Given the description of an element on the screen output the (x, y) to click on. 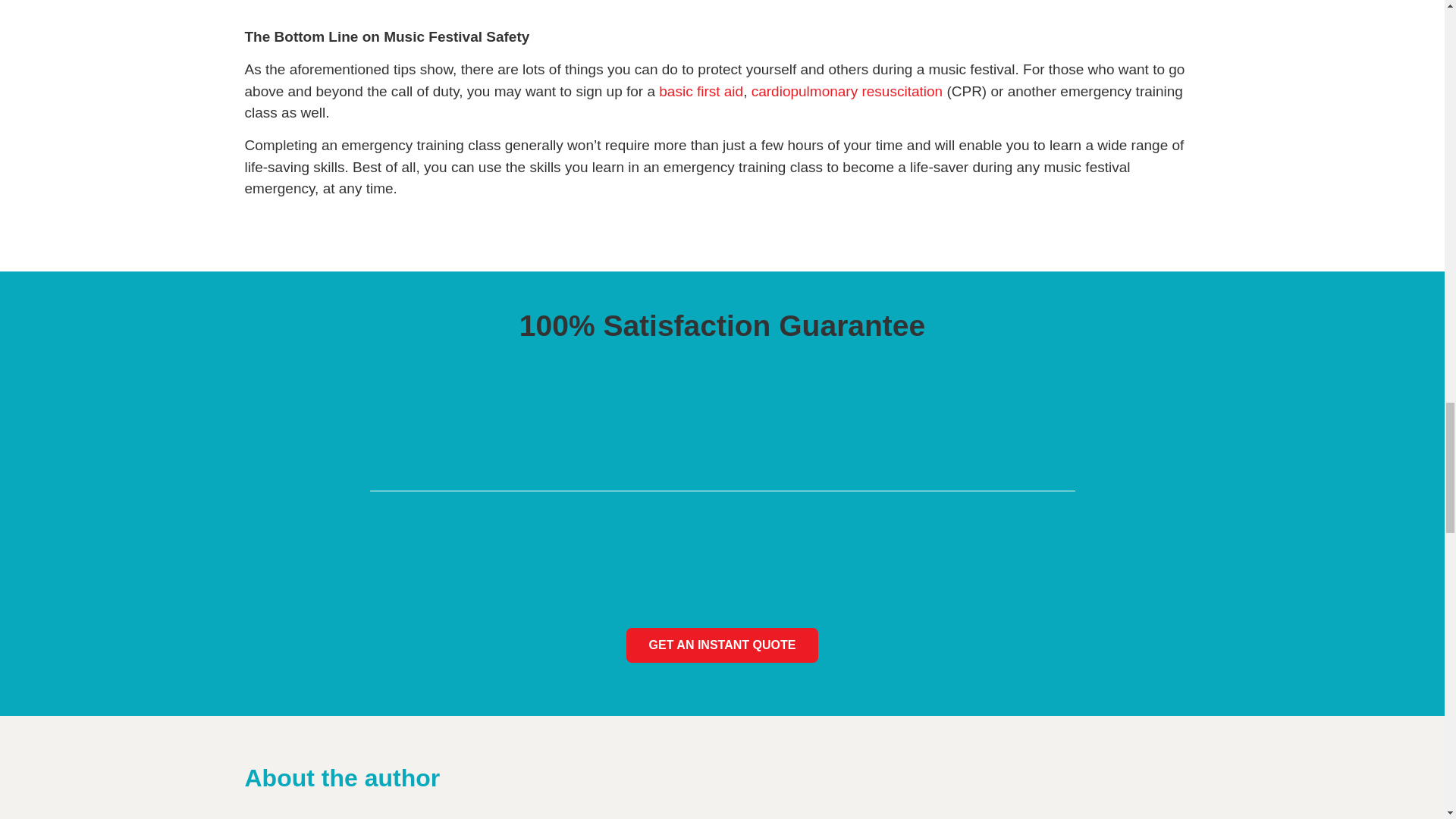
basic first aid (700, 91)
cardiopulmonary resuscitation (846, 91)
GET AN INSTANT QUOTE (722, 645)
